Given the description of an element on the screen output the (x, y) to click on. 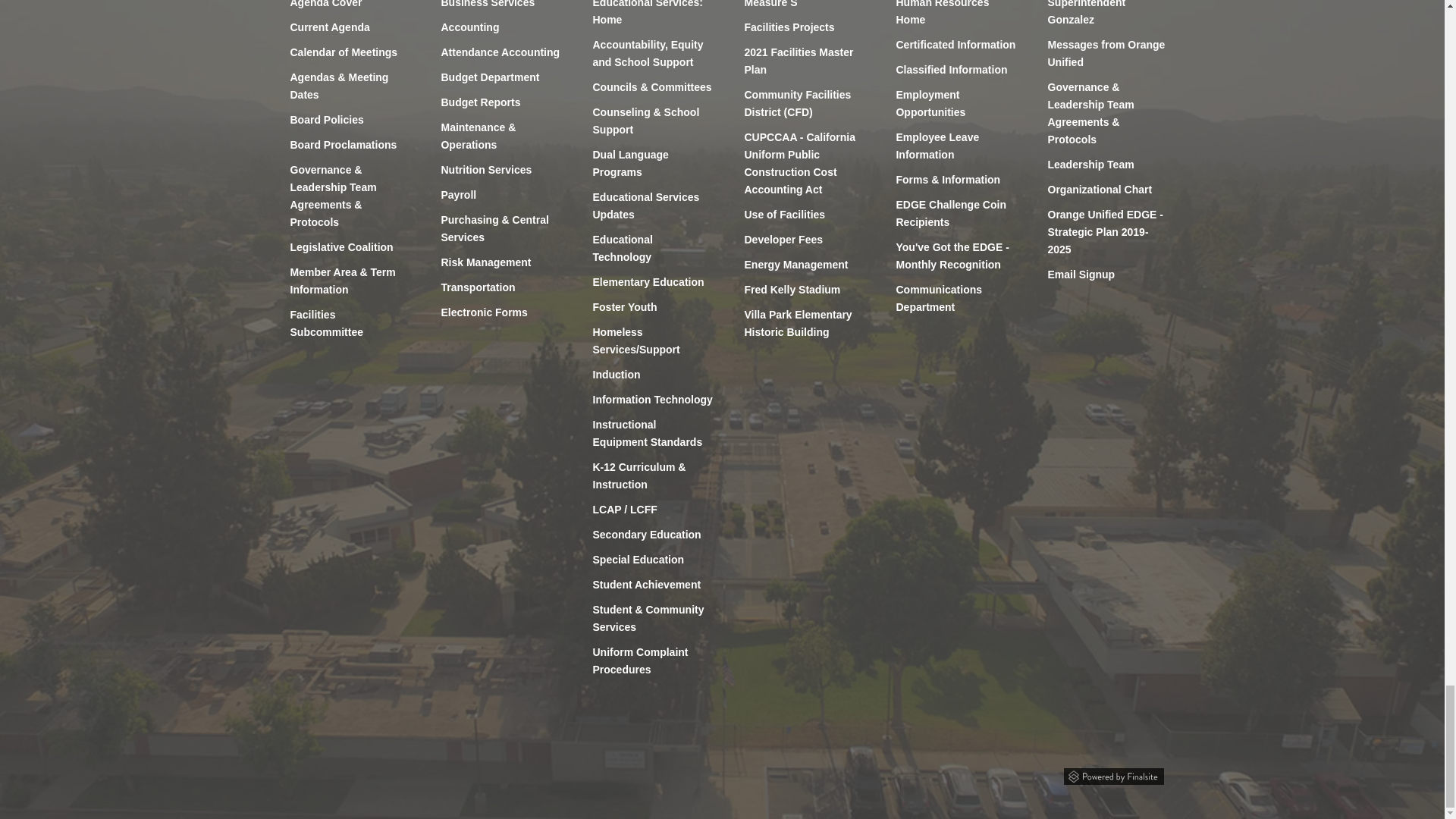
Powered by Finalsite opens in a new window (1113, 774)
